Given the description of an element on the screen output the (x, y) to click on. 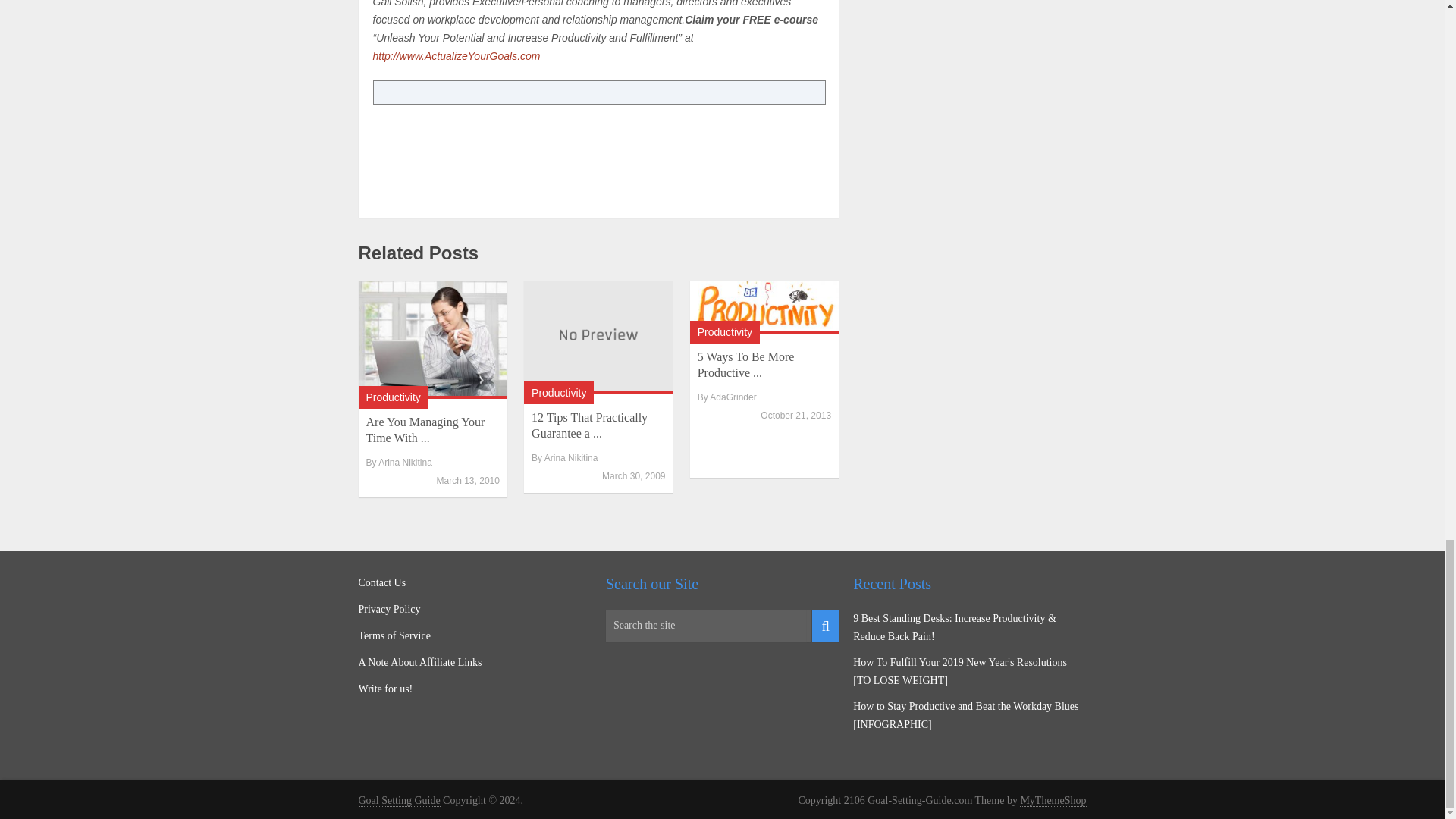
Arina Nikitina (405, 462)
Productivity (392, 397)
Are You Managing Your Time With Activity Or Productivity? (424, 429)
Productivity (558, 391)
Productivity (724, 331)
View all posts in Productivity (558, 391)
Are You Managing Your Time With Activity Or Productivity? (432, 339)
12 Tips That Practically Guarantee a ... (589, 424)
Posts by Arina Nikitina (571, 457)
View all posts in Productivity (392, 397)
5 Ways To Be More Productive ... (745, 364)
Arina Nikitina (571, 457)
5 Ways To Be More Productive At Work (764, 306)
Are You Managing Your Time With ... (424, 429)
